Given the description of an element on the screen output the (x, y) to click on. 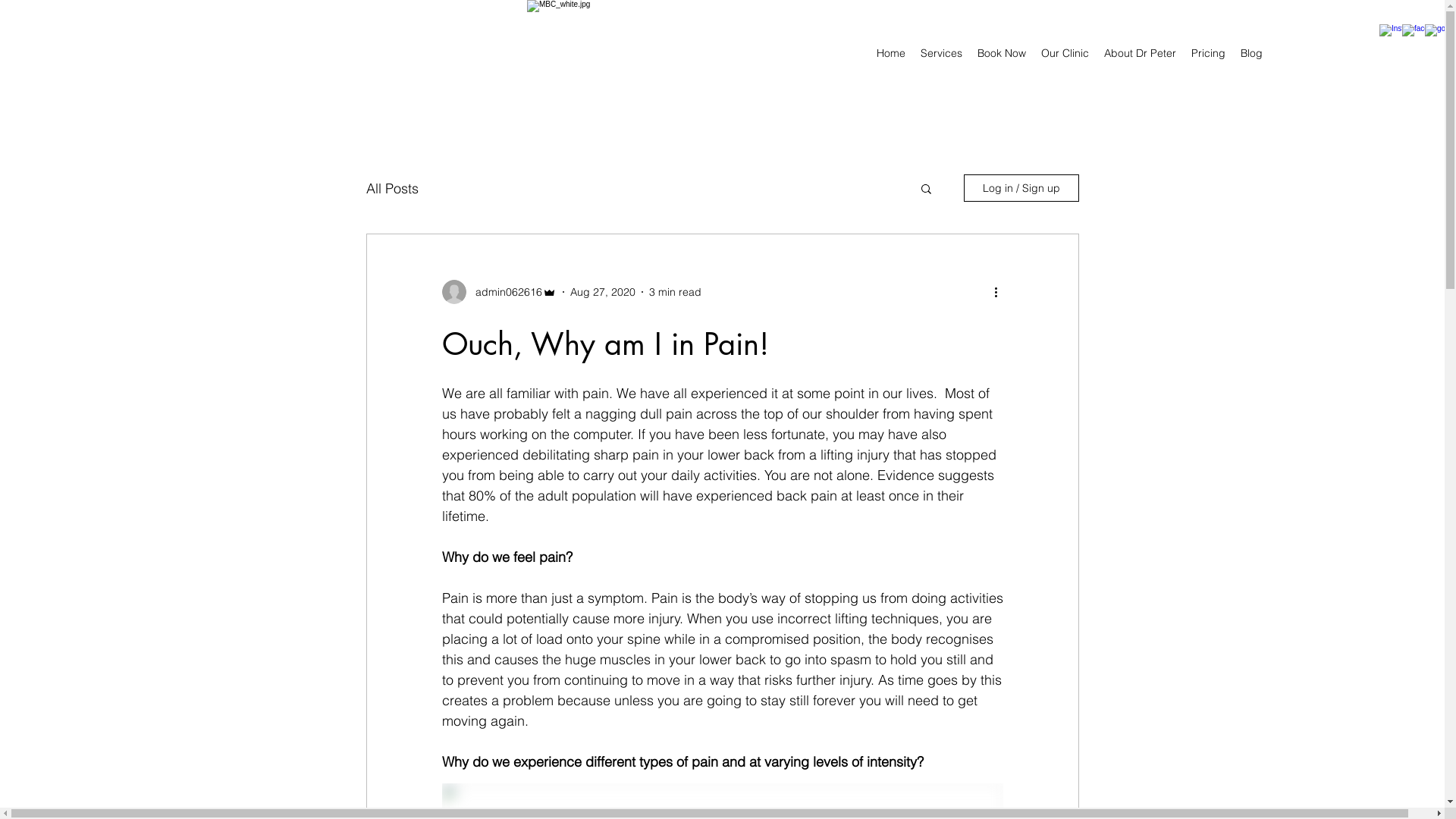
Our Clinic Element type: text (1064, 52)
Log in / Sign up Element type: text (1020, 187)
All Posts Element type: text (391, 187)
Services Element type: text (941, 52)
About Dr Peter Element type: text (1139, 52)
Home Element type: text (891, 52)
Blog Element type: text (1251, 52)
Pricing Element type: text (1208, 52)
MBC_white.jpg Element type: hover (617, 53)
Book Now Element type: text (1001, 52)
